Given the description of an element on the screen output the (x, y) to click on. 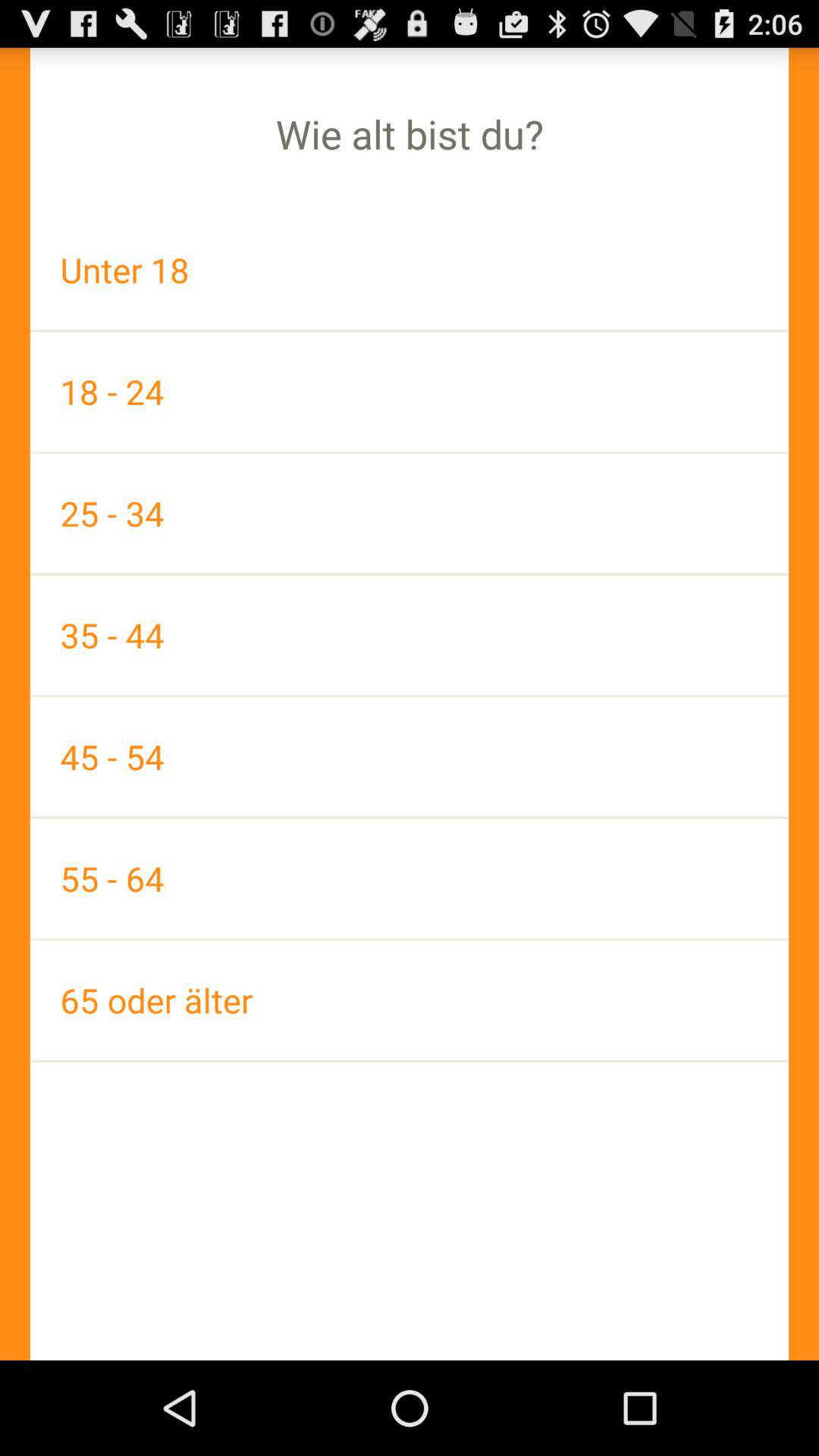
click the icon above the 45 - 54 app (409, 635)
